Given the description of an element on the screen output the (x, y) to click on. 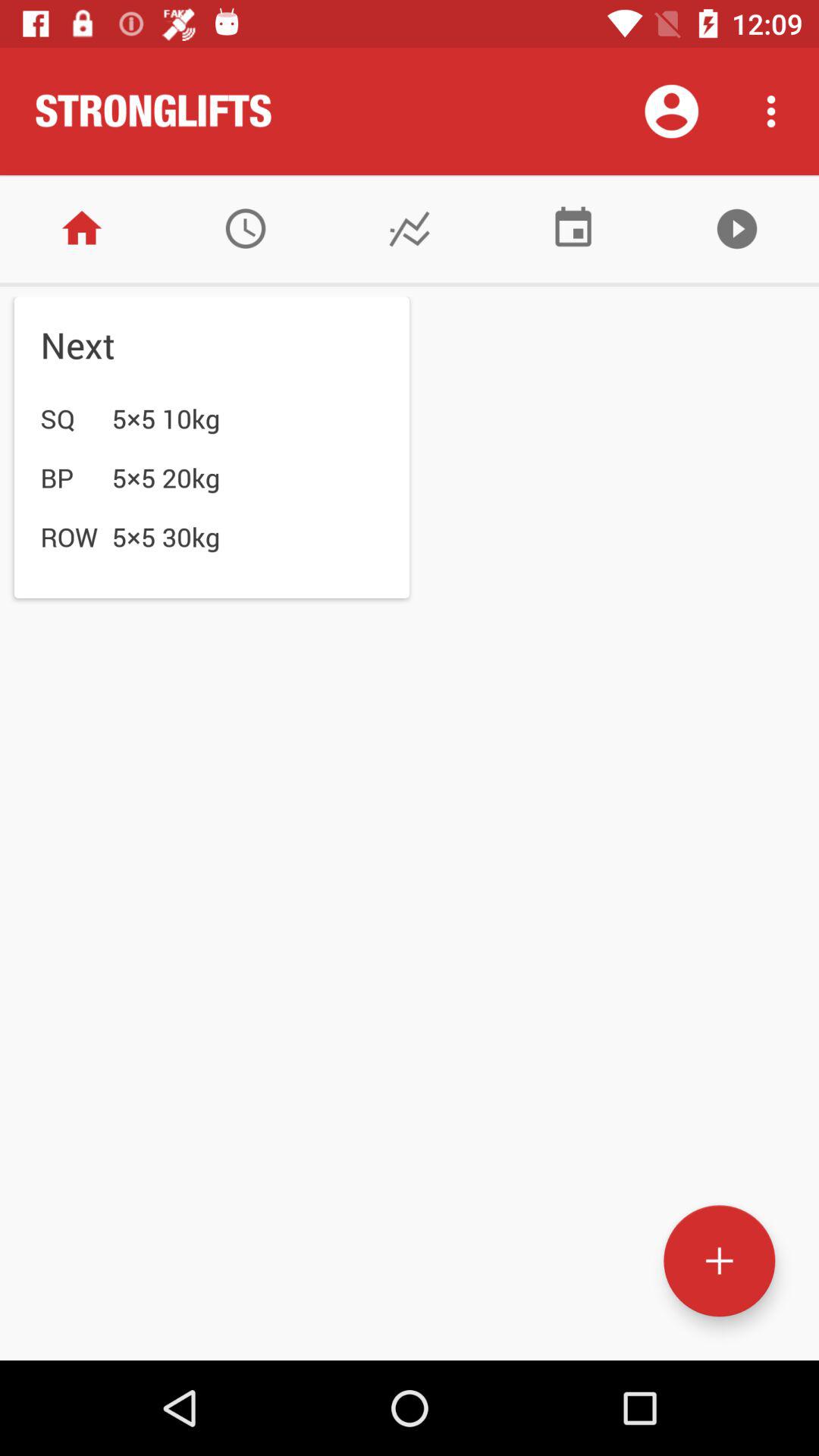
home (81, 228)
